Given the description of an element on the screen output the (x, y) to click on. 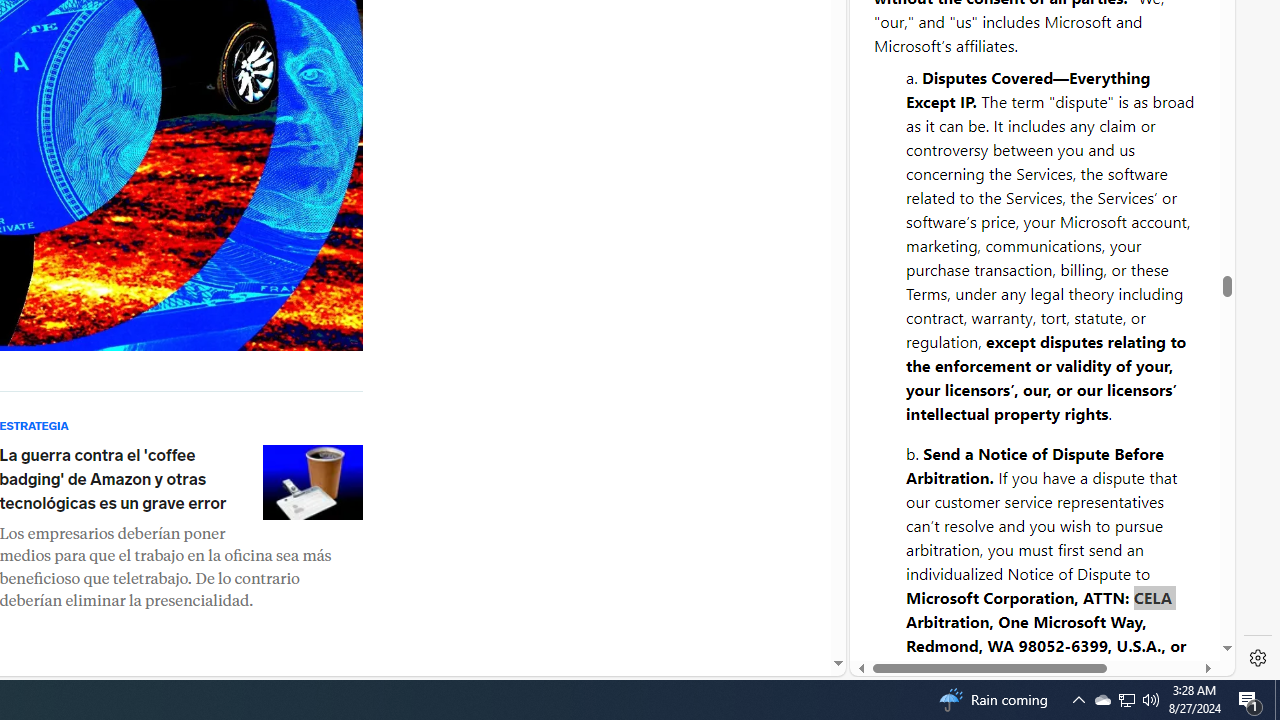
Open in New Tab (1042, 631)
Coffee Badgings (312, 481)
